Given the description of an element on the screen output the (x, y) to click on. 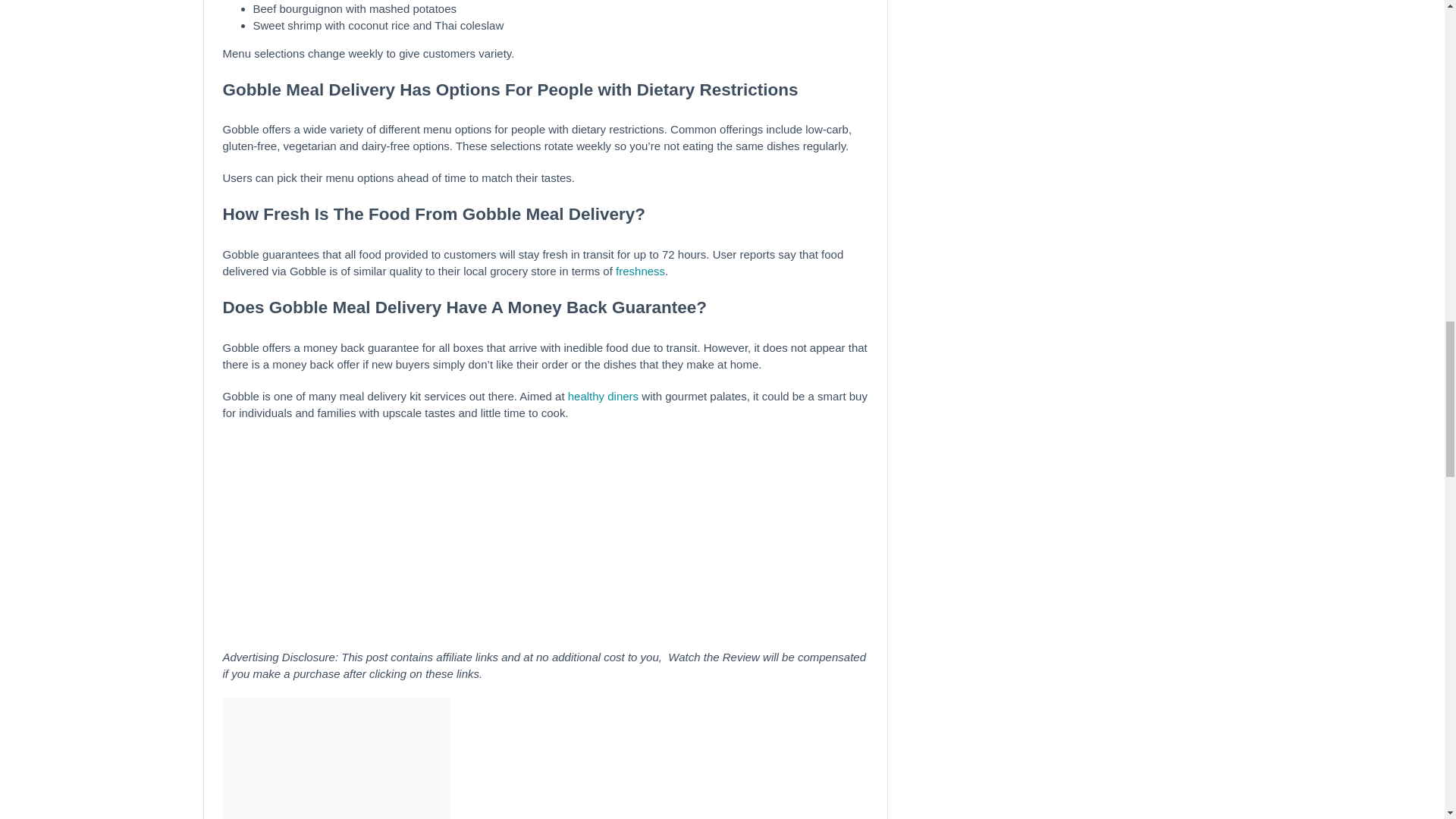
freshness (640, 270)
healthy diners (603, 395)
